Given the description of an element on the screen output the (x, y) to click on. 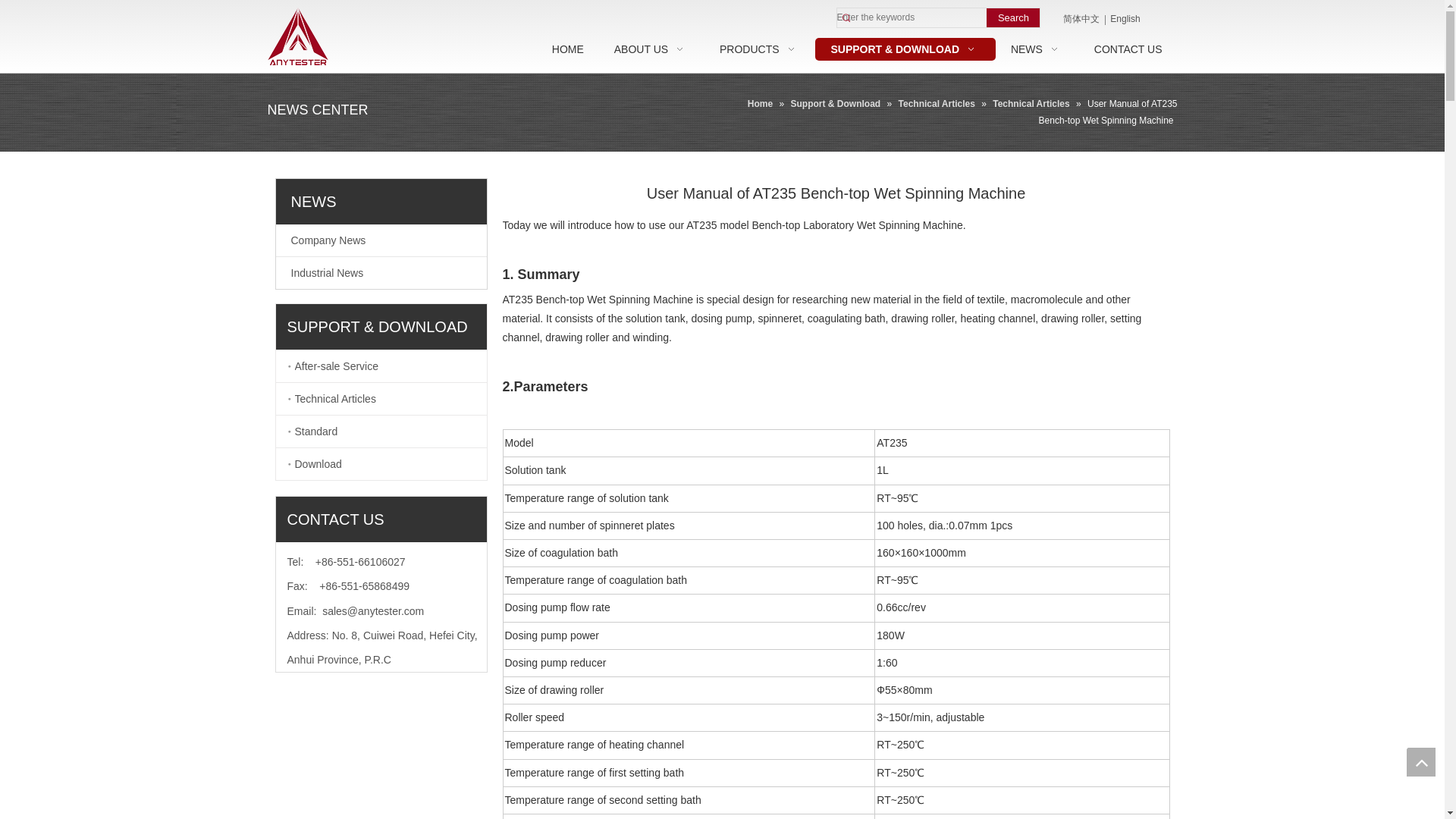
Standard (390, 431)
Search (1013, 17)
Download (390, 463)
ABOUT US   (651, 48)
PRODUCTS   (759, 48)
Company News (381, 240)
HOME (567, 48)
logo2 (296, 36)
After-sale Service (390, 366)
Industrial News (381, 273)
